Given the description of an element on the screen output the (x, y) to click on. 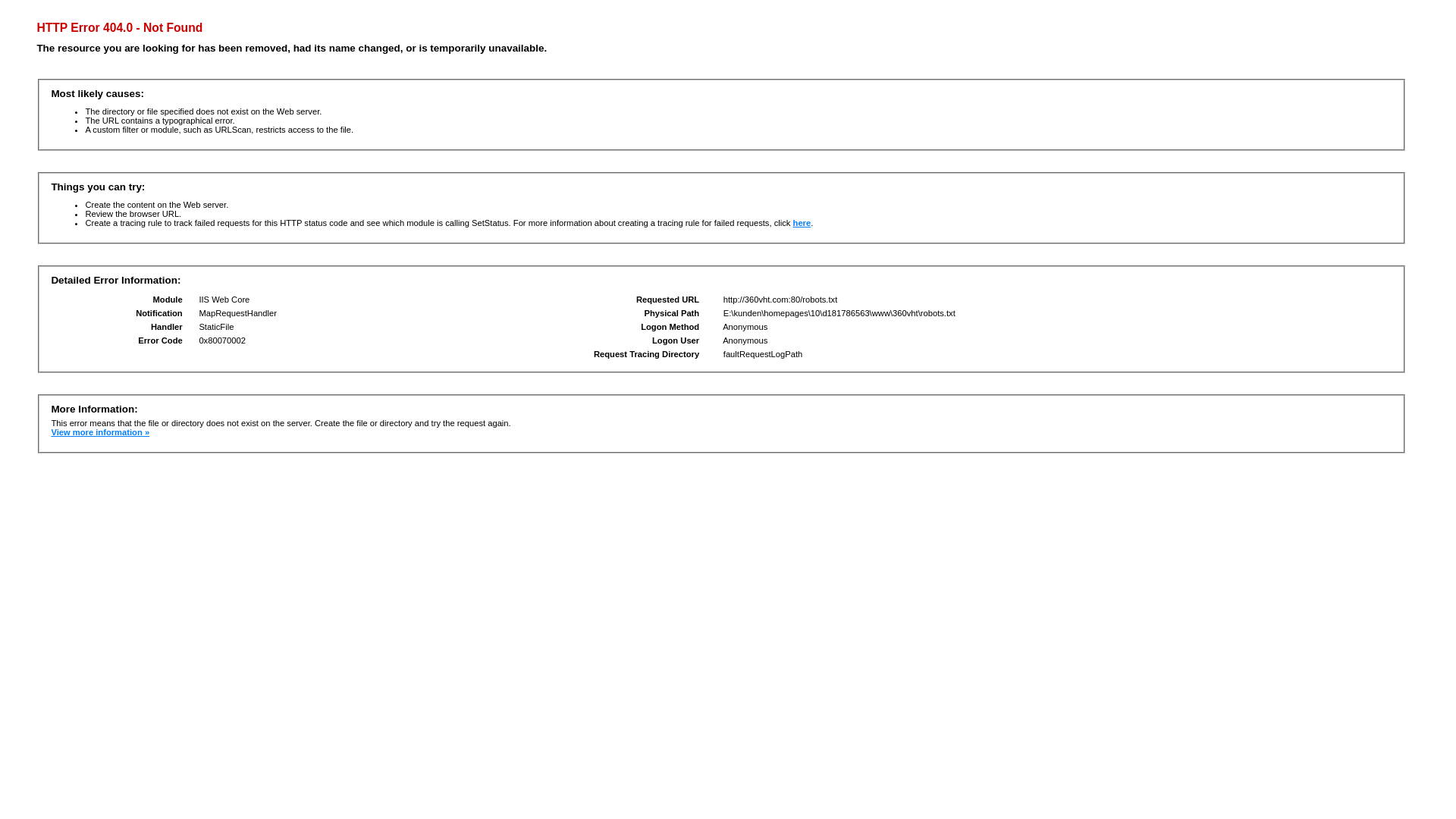
here Element type: text (802, 222)
